Given the description of an element on the screen output the (x, y) to click on. 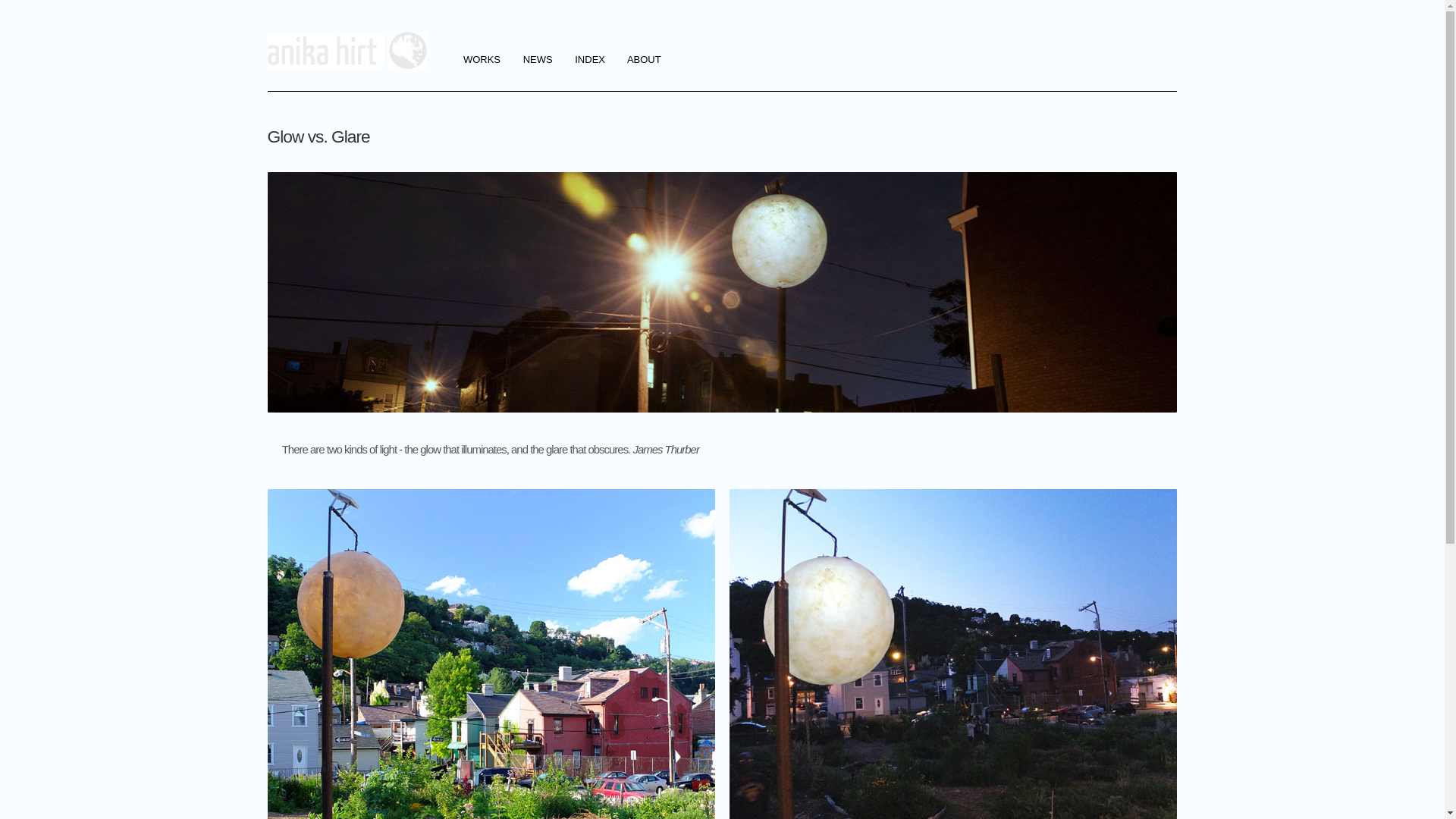
INDEX Element type: text (589, 59)
NEWS Element type: text (537, 59)
ABOUT Element type: text (644, 59)
WORKS Element type: text (481, 59)
